Given the description of an element on the screen output the (x, y) to click on. 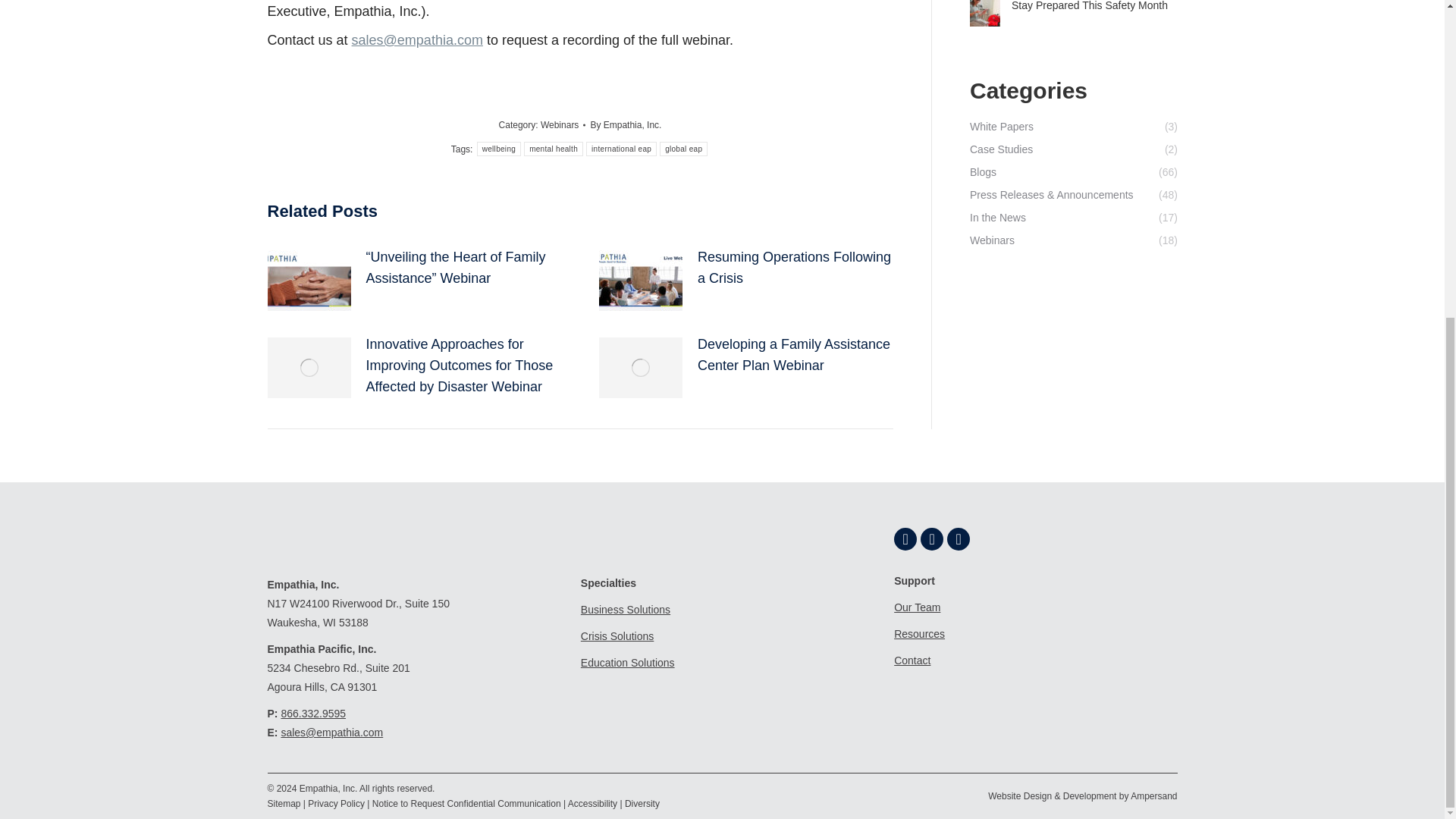
Facebook (905, 538)
Webinars (559, 124)
international eap (621, 148)
View all posts by Empathia, Inc. (625, 124)
YouTube (931, 538)
By Empathia, Inc. (625, 124)
Linkedin (958, 538)
wellbeing (499, 148)
mental health (553, 148)
global eap (683, 148)
